Given the description of an element on the screen output the (x, y) to click on. 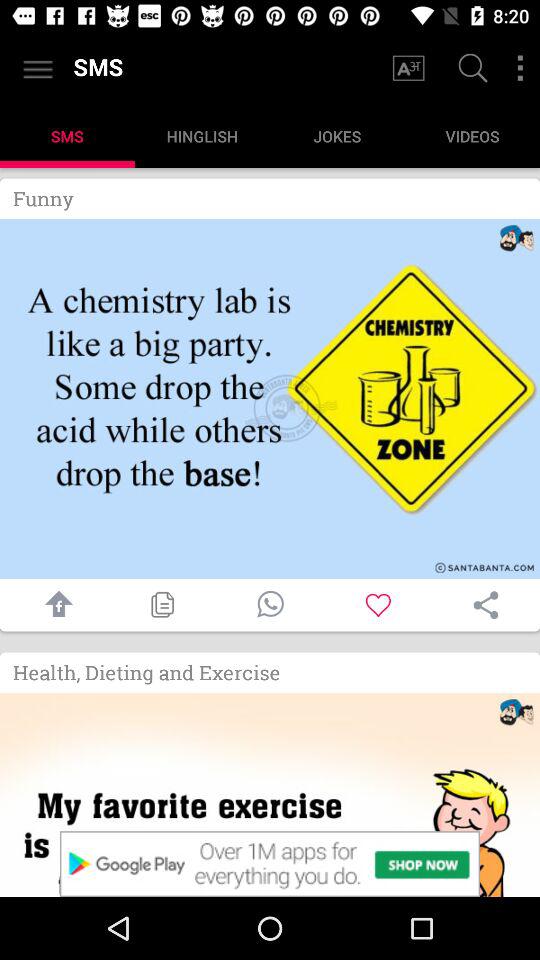
advertising (270, 795)
